Given the description of an element on the screen output the (x, y) to click on. 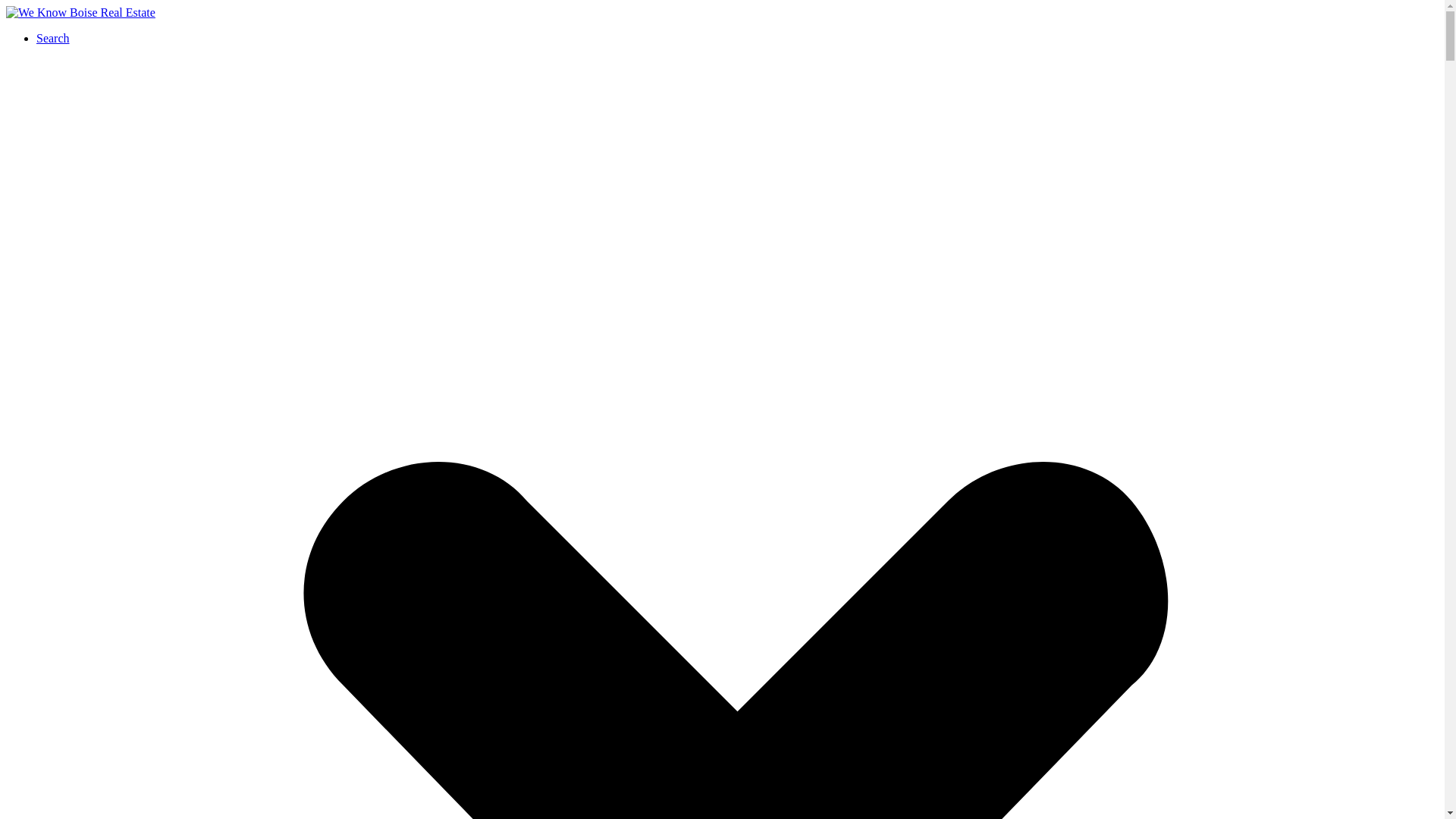
We Know Boise (80, 12)
